Given the description of an element on the screen output the (x, y) to click on. 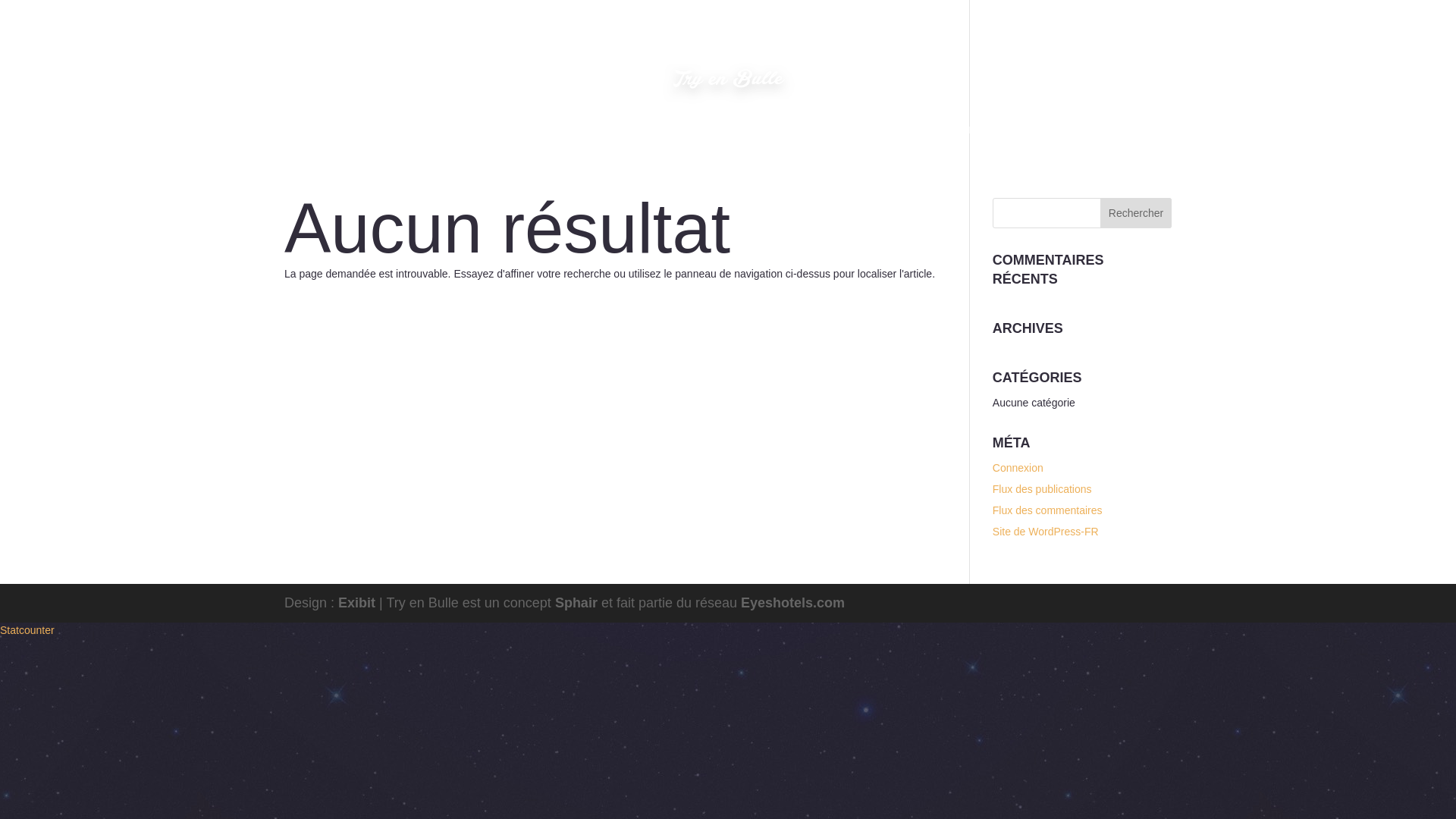
Rechercher (1136, 213)
Exibit (356, 602)
Connexion (1017, 467)
ACCUEIL (479, 139)
Site de WordPress-FR (1045, 531)
Eyeshotels.com (792, 602)
Sphair (575, 602)
Flux des commentaires (1047, 510)
Statcounter (27, 630)
Rechercher (1136, 213)
CONFORT (715, 139)
PHOTOS (537, 139)
Flux des publications (1042, 489)
CONTACT (778, 139)
